Given the description of an element on the screen output the (x, y) to click on. 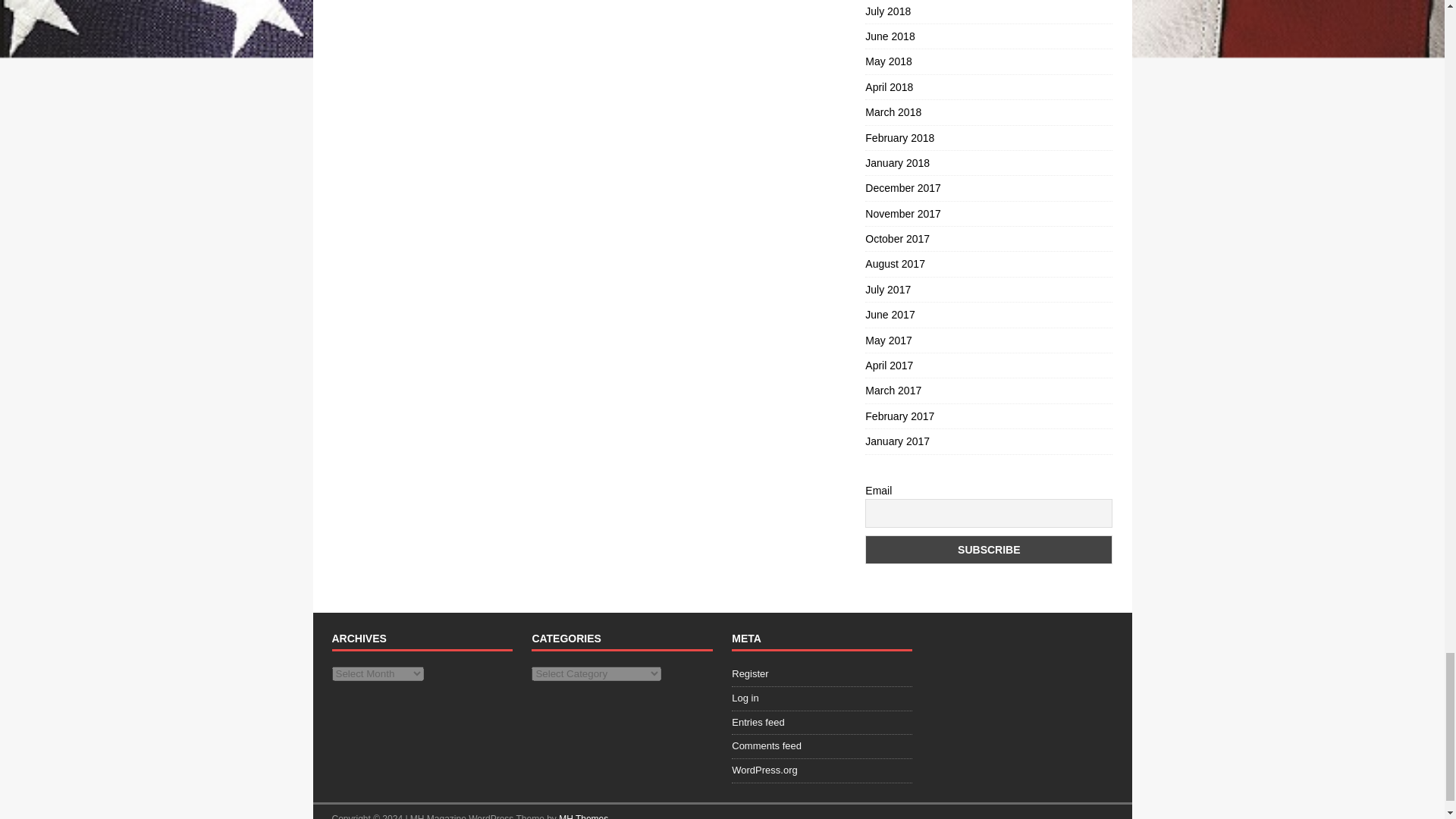
Subscribe (988, 549)
